Given the description of an element on the screen output the (x, y) to click on. 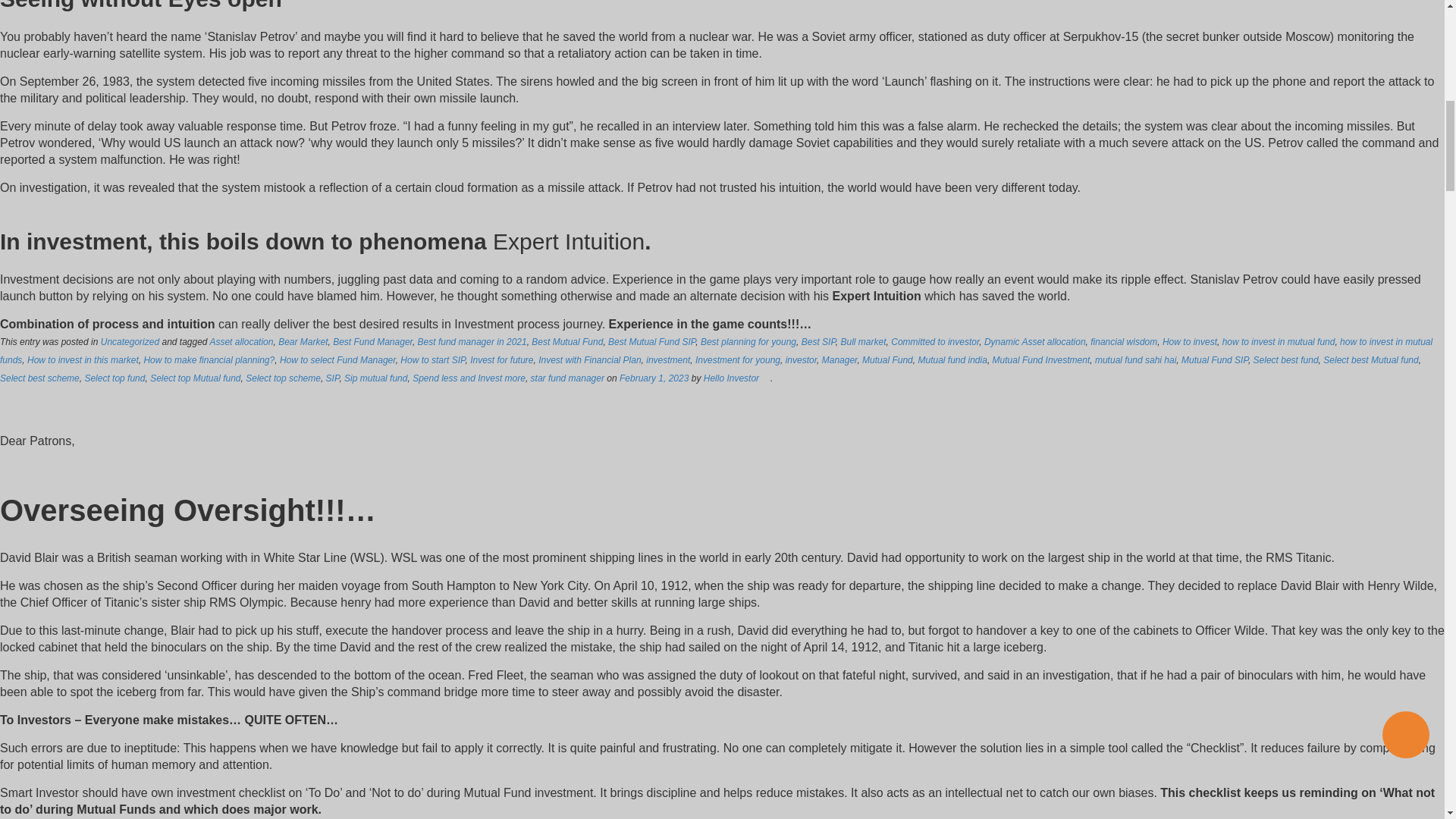
7:21 am (654, 378)
View all posts by Hello Investor (730, 378)
